Given the description of an element on the screen output the (x, y) to click on. 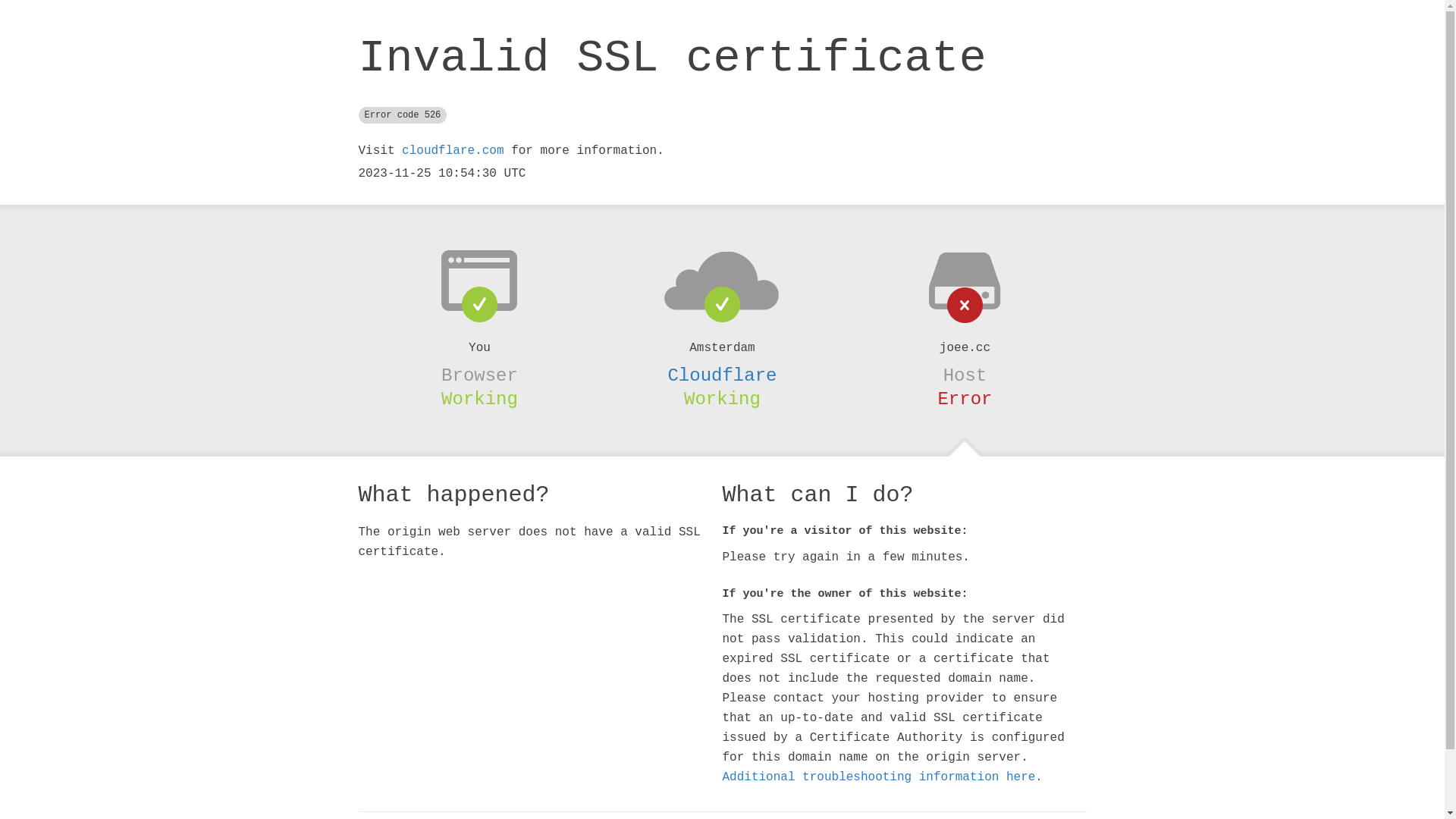
cloudflare.com Element type: text (452, 150)
Cloudflare Element type: text (721, 375)
Additional troubleshooting information here. Element type: text (881, 777)
